Given the description of an element on the screen output the (x, y) to click on. 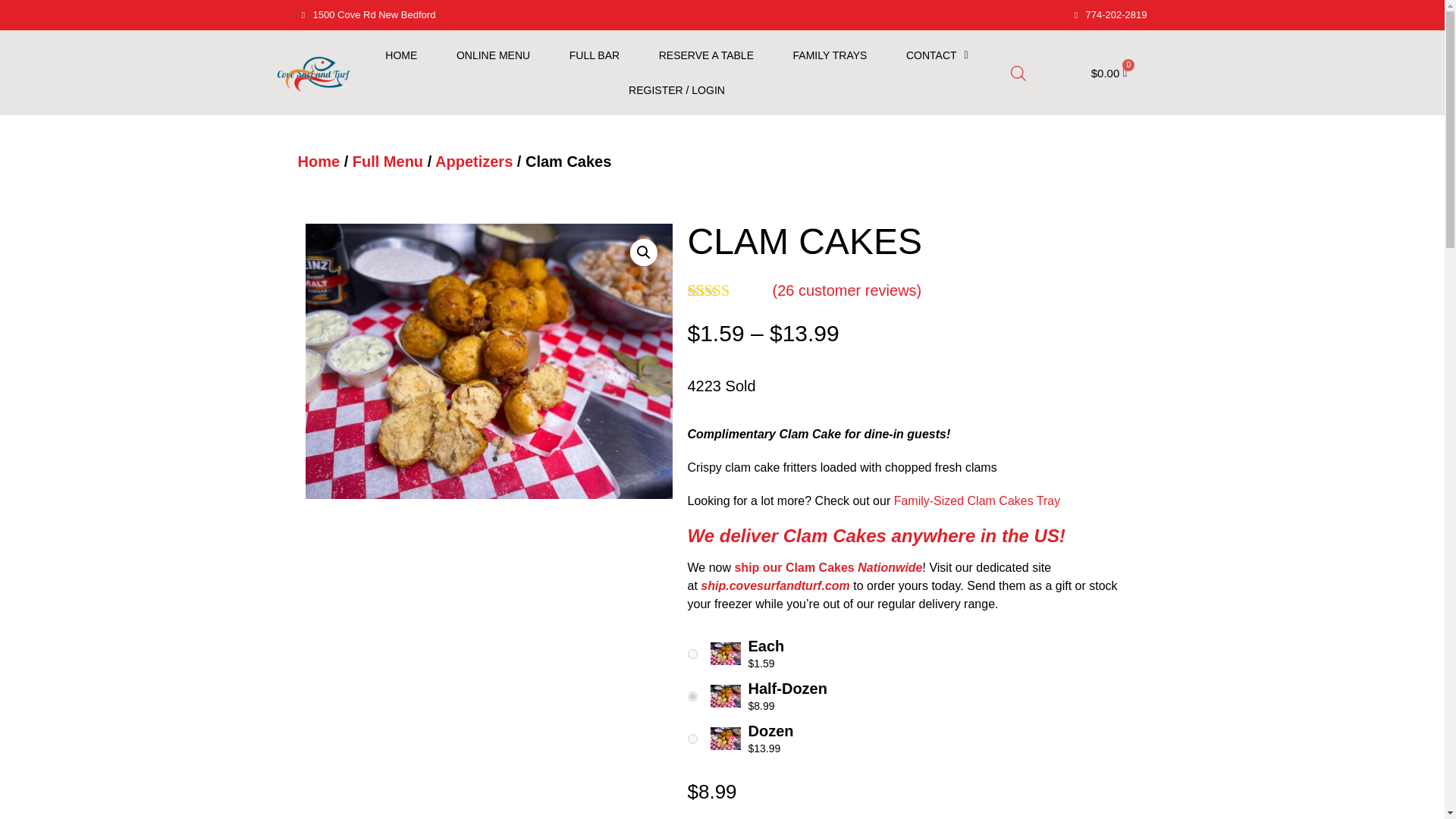
FAMILY TRAYS (829, 54)
on (692, 738)
Full Menu (387, 161)
Home (318, 161)
HOME (400, 54)
CONTACT (936, 54)
on (692, 654)
774-202-2819 (1108, 15)
on (692, 696)
Clam cakes - fritters (487, 360)
RESERVE A TABLE (706, 54)
ONLINE MENU (493, 54)
FULL BAR (594, 54)
Appetizers (473, 161)
1500 Cove Rd New Bedford (505, 15)
